Given the description of an element on the screen output the (x, y) to click on. 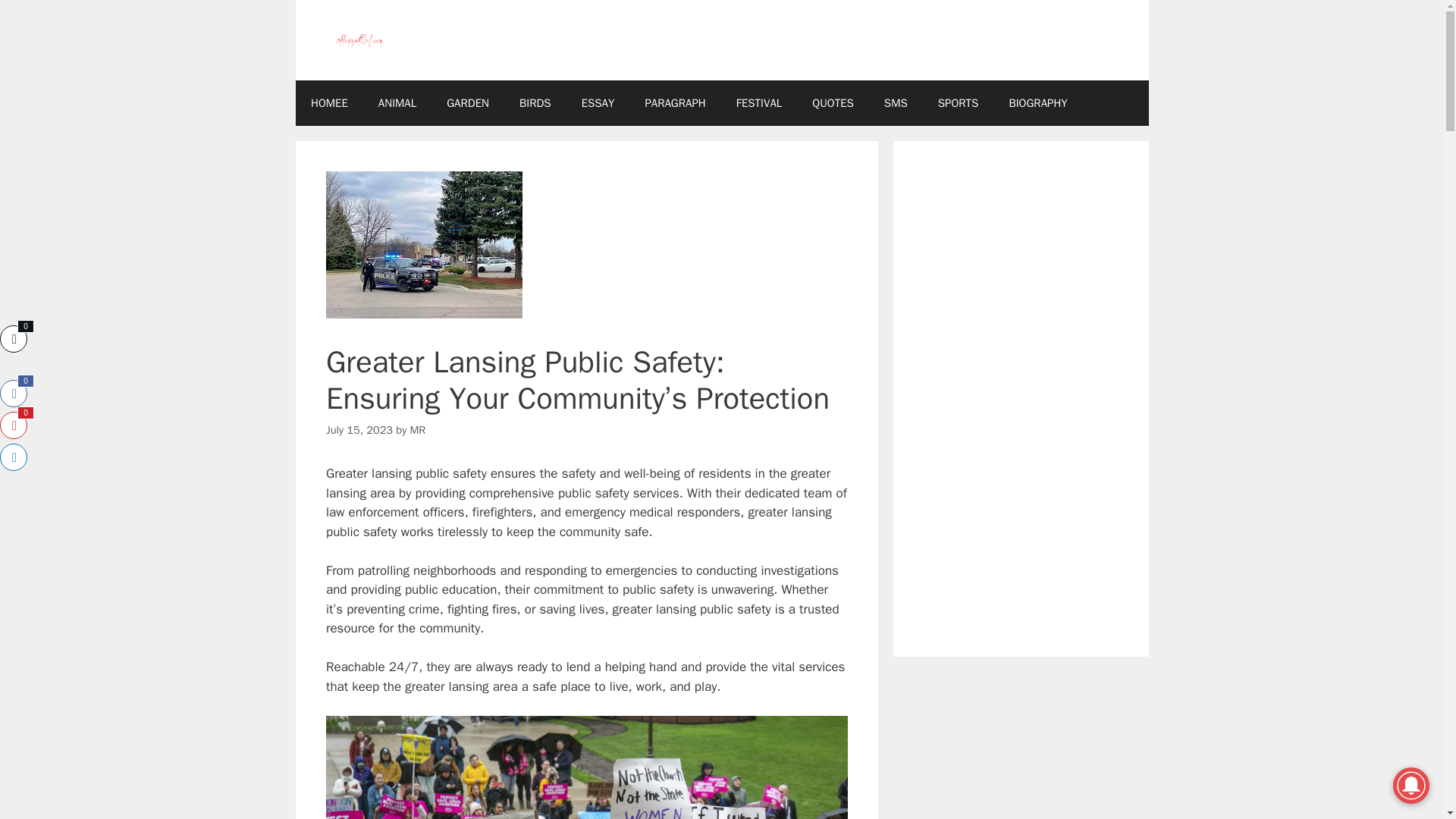
MR (418, 429)
ANIMAL (396, 103)
FESTIVAL (758, 103)
SPORTS (958, 103)
QUOTES (832, 103)
HOMEE (328, 103)
SMS (896, 103)
View all posts by MR (418, 429)
BIRDS (534, 103)
BIOGRAPHY (1036, 103)
